Given the description of an element on the screen output the (x, y) to click on. 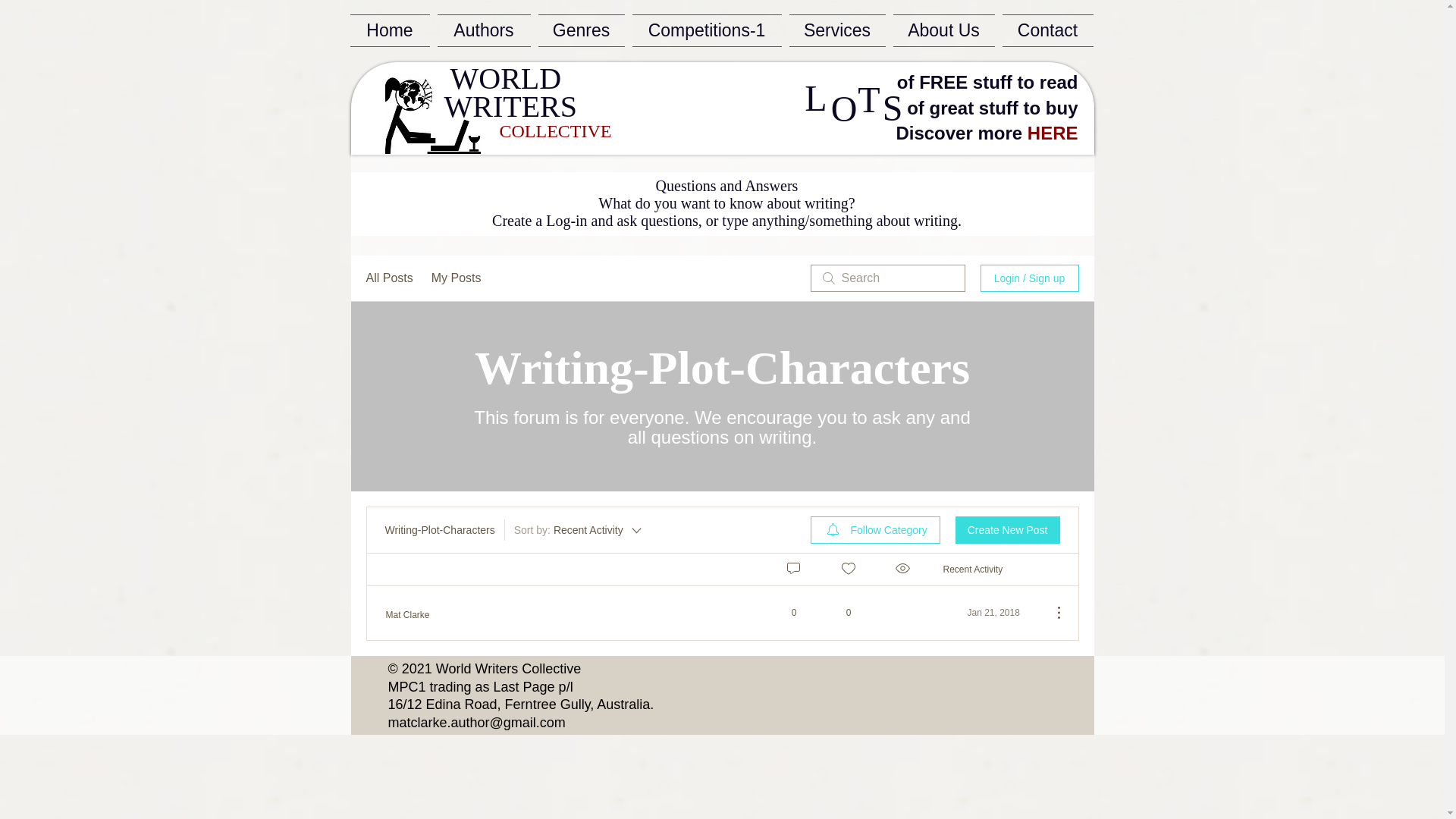
Facebook Like (694, 80)
Home (391, 30)
Reactions (848, 568)
Authors (483, 30)
